Given the description of an element on the screen output the (x, y) to click on. 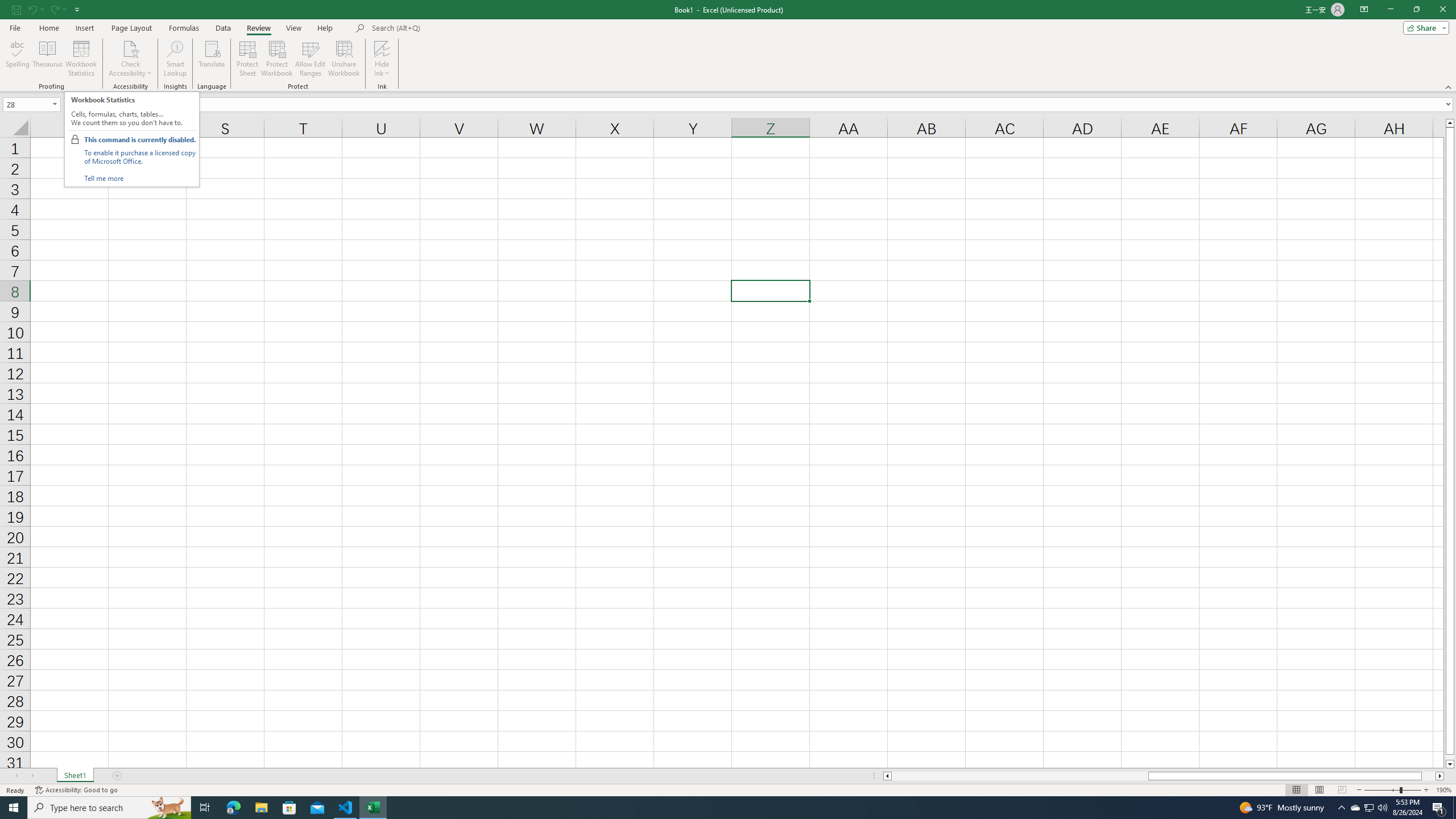
Unshare Workbook (344, 58)
Workbook Statistics (81, 58)
Protect Workbook... (277, 58)
